Given the description of an element on the screen output the (x, y) to click on. 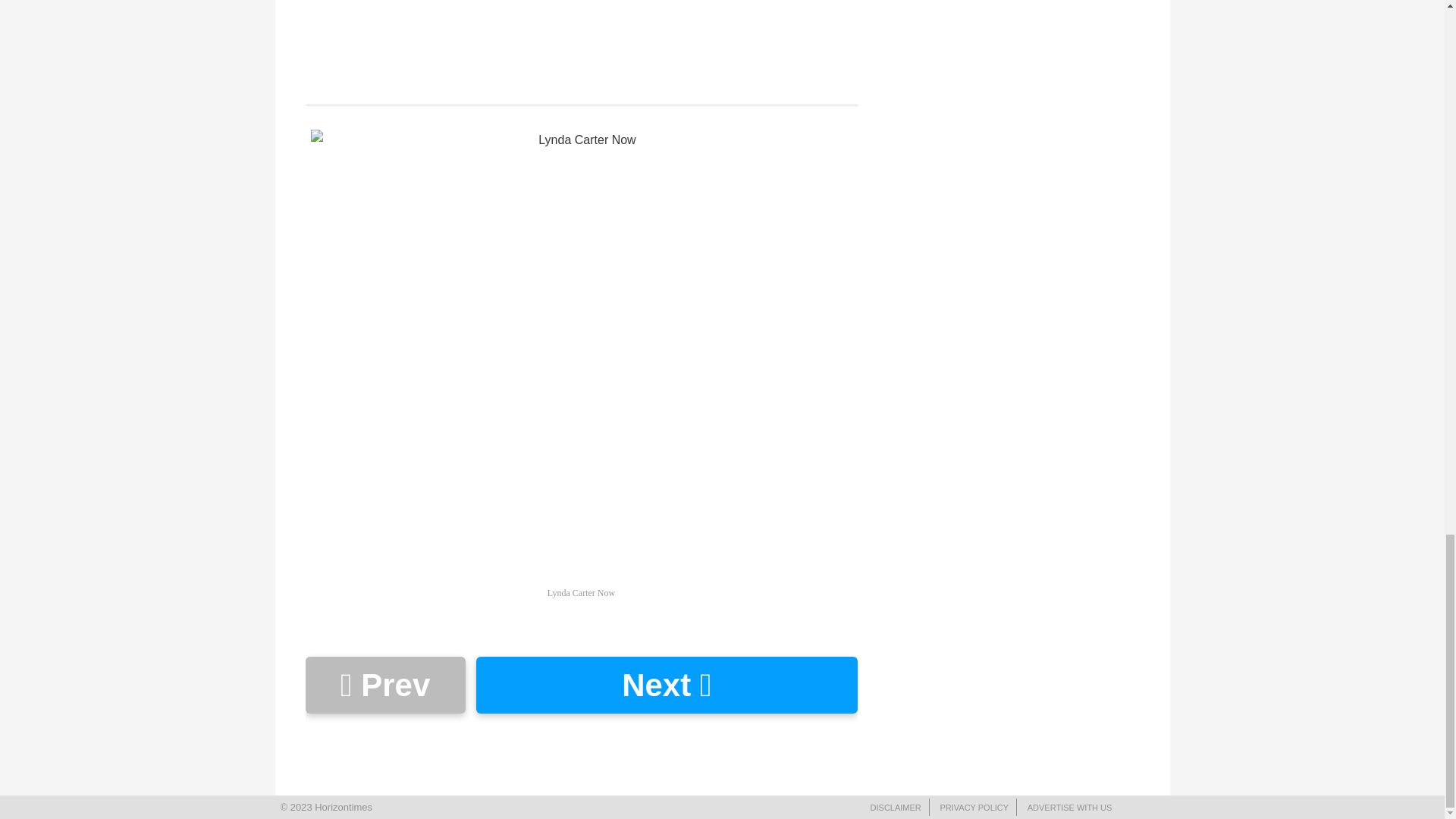
Prev (384, 684)
PRIVACY POLICY (974, 807)
DISCLAIMER (895, 807)
Next (666, 684)
ADVERTISE WITH US (1069, 807)
